Given the description of an element on the screen output the (x, y) to click on. 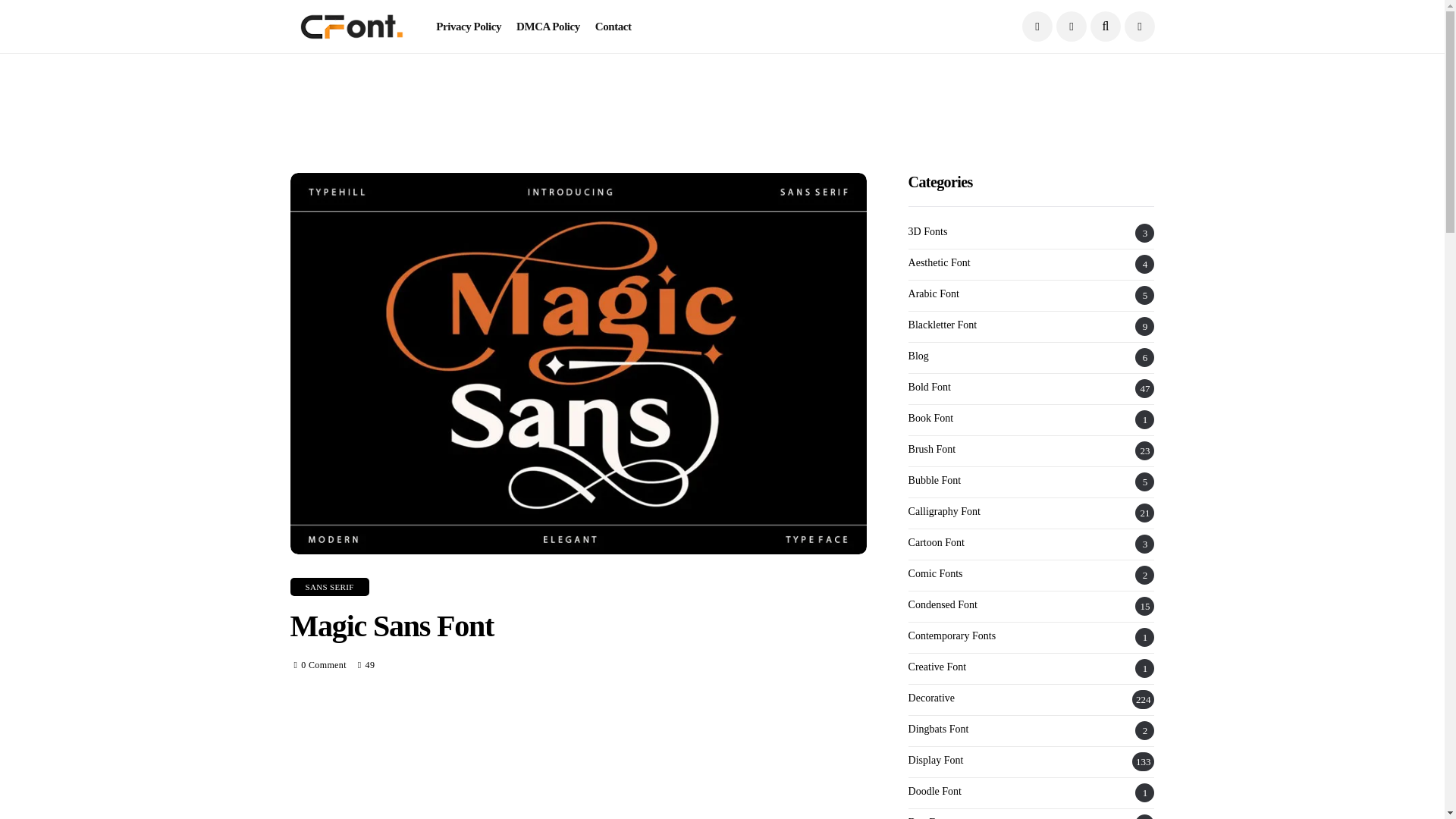
0 Comment (323, 665)
Privacy Policy (467, 26)
SANS SERIF (328, 587)
Advertisement (721, 87)
Contact (613, 26)
DMCA Policy (547, 26)
Advertisement (577, 763)
